Given the description of an element on the screen output the (x, y) to click on. 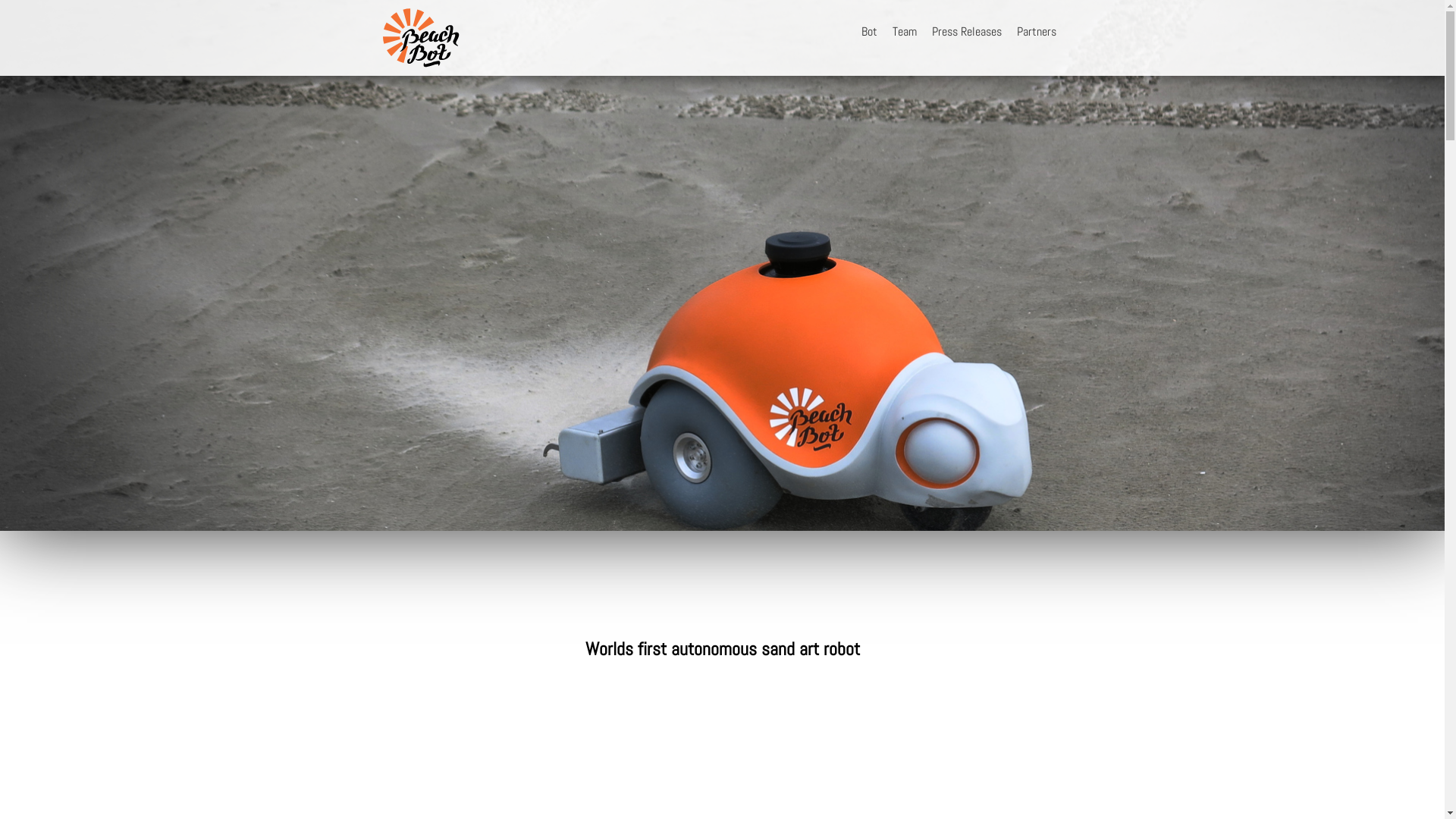
Press Releases Element type: text (965, 31)
Partners Element type: text (1035, 31)
Bot Element type: text (868, 31)
Team Element type: text (903, 31)
